Given the description of an element on the screen output the (x, y) to click on. 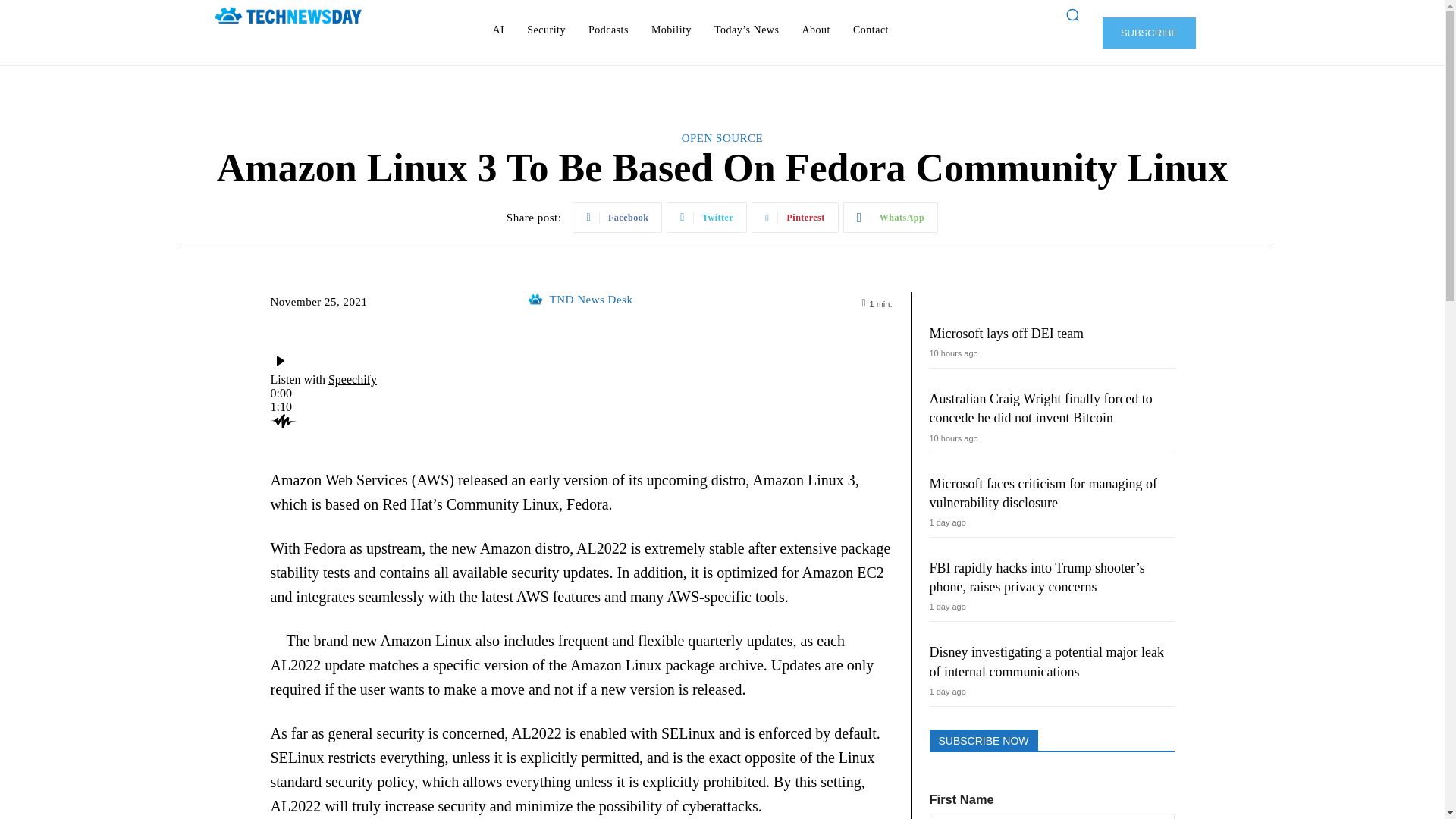
Podcasts (608, 30)
Contact (870, 30)
Security (546, 30)
AI (498, 30)
Mobility (670, 30)
About (815, 30)
SUBSCRIBE (1148, 31)
